Given the description of an element on the screen output the (x, y) to click on. 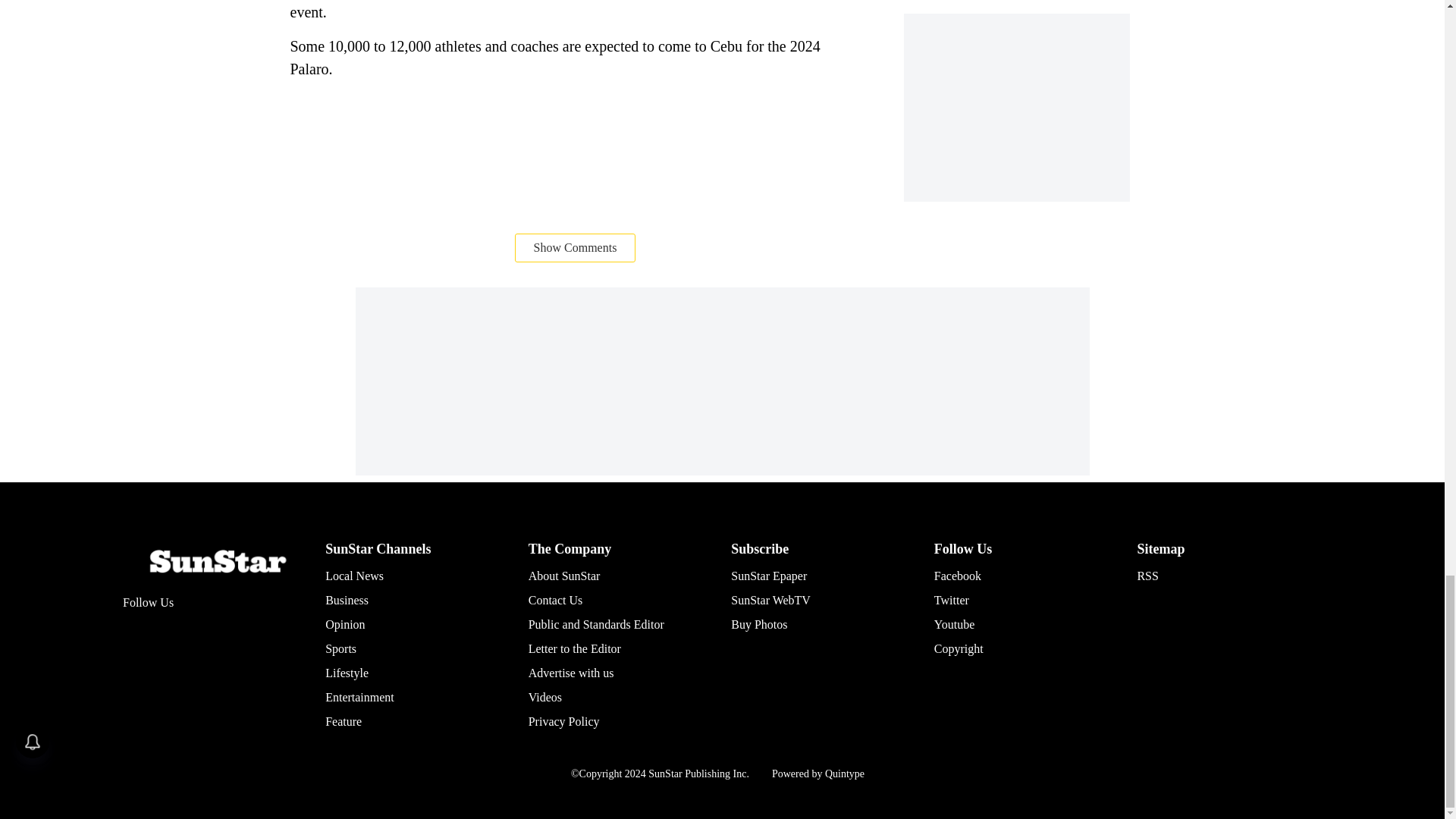
Show Comments (575, 247)
